Given the description of an element on the screen output the (x, y) to click on. 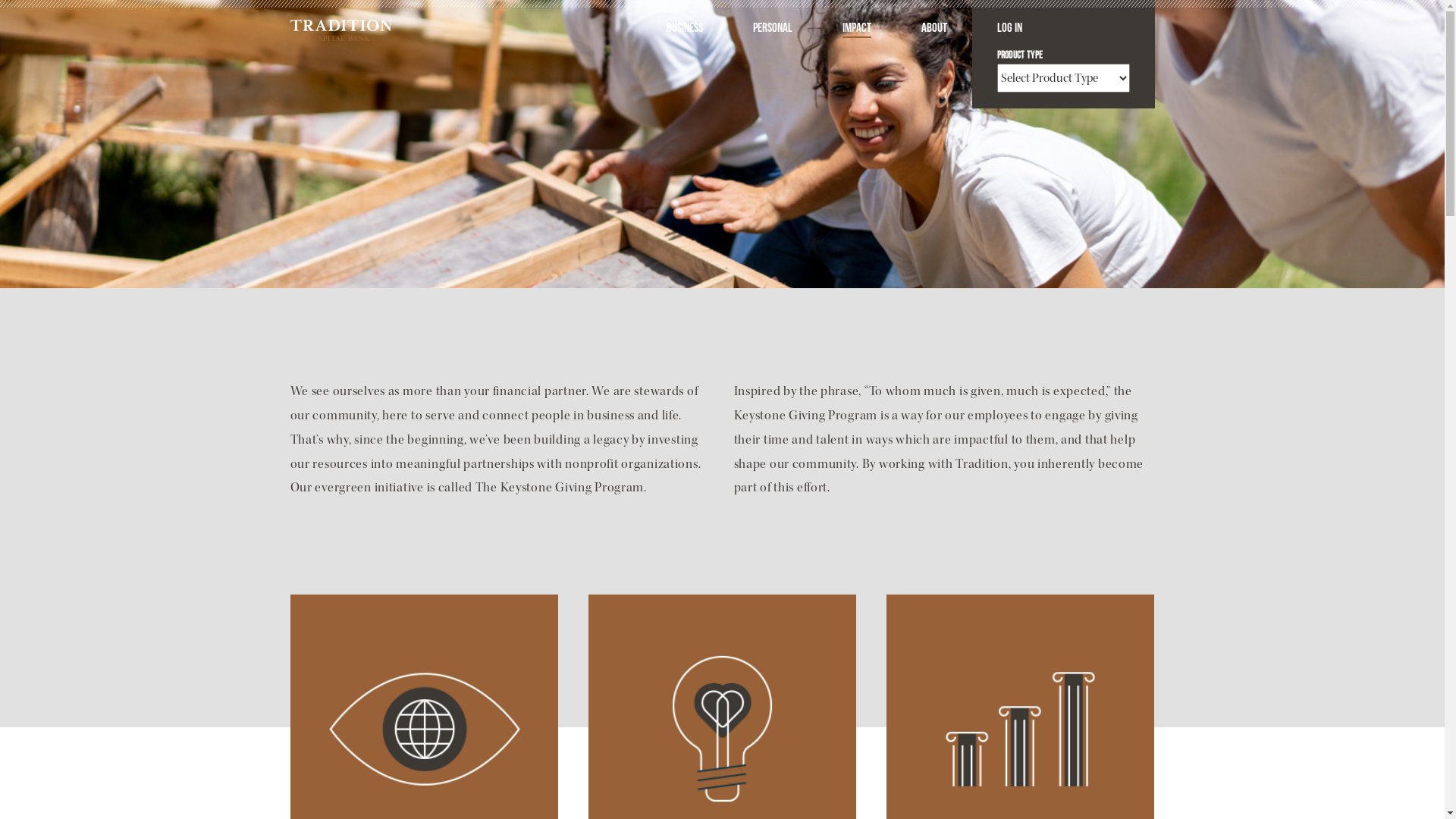
Personal Element type: text (771, 28)
About Element type: text (933, 28)
Impact Element type: text (855, 28)
Business Element type: text (683, 28)
